Given the description of an element on the screen output the (x, y) to click on. 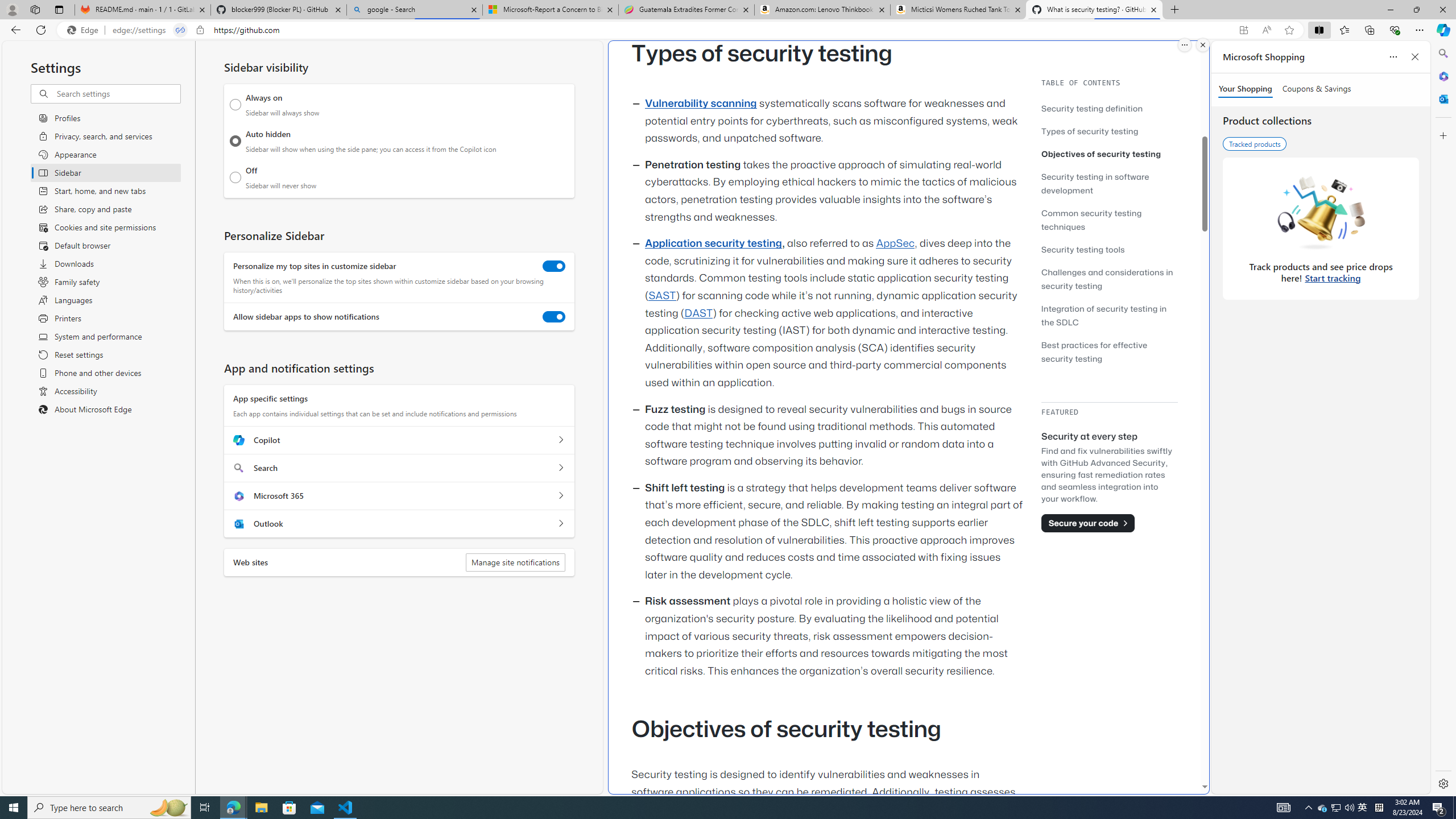
SAST (661, 295)
